Given the description of an element on the screen output the (x, y) to click on. 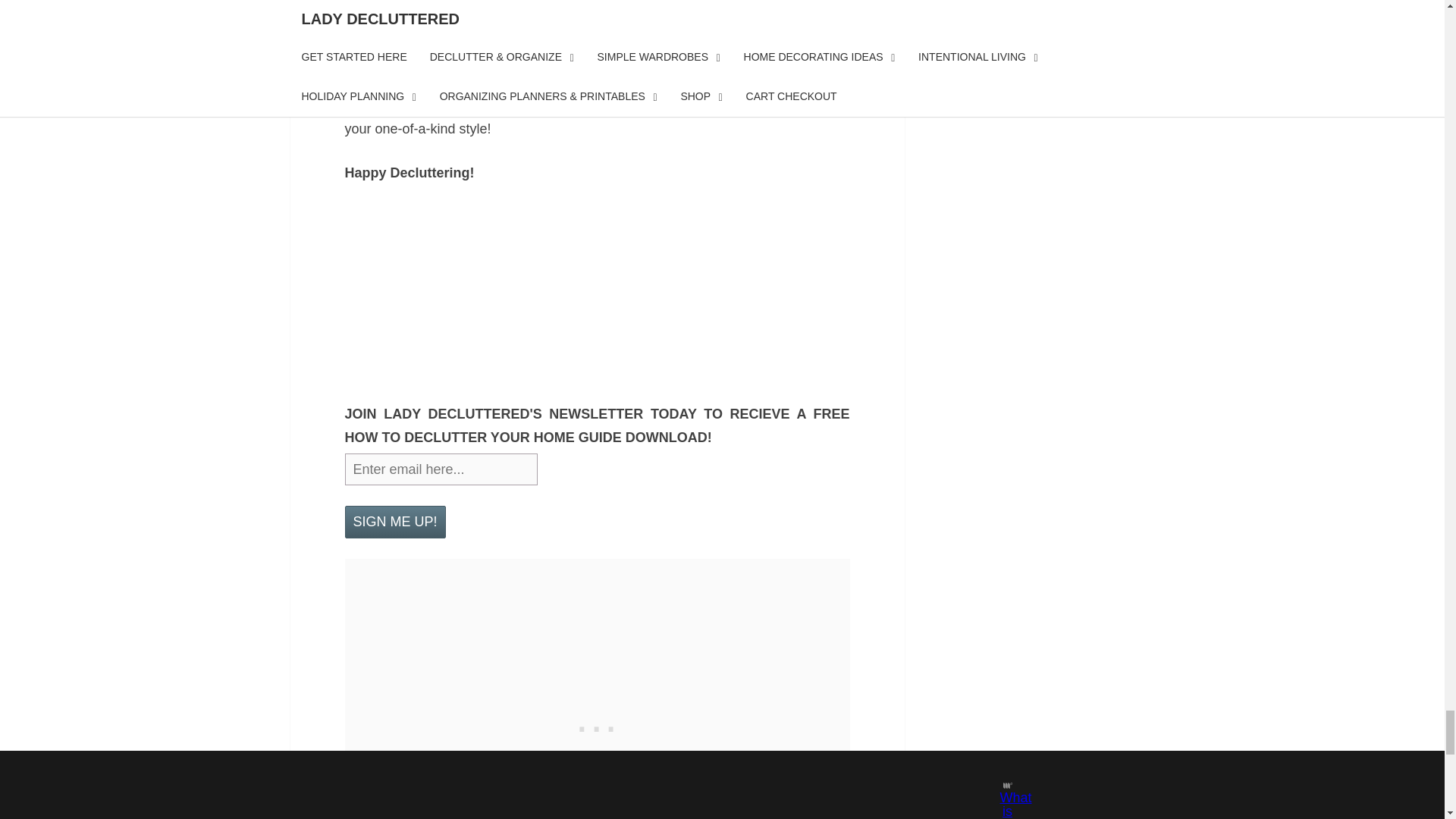
SIGN ME UP! (394, 522)
